Given the description of an element on the screen output the (x, y) to click on. 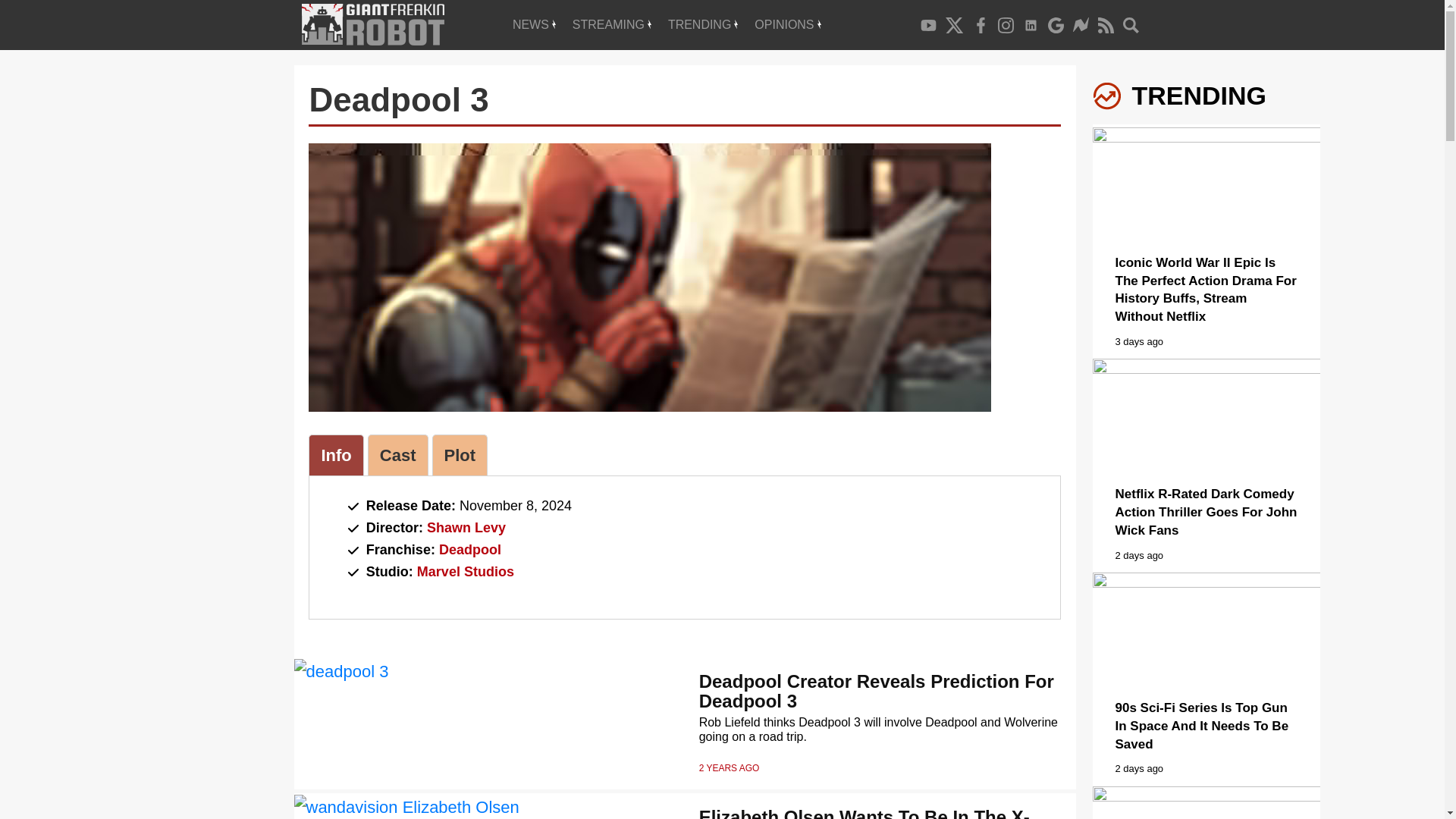
Shawn Levy (465, 527)
Entertainment News (533, 24)
Streaming (611, 24)
Marvel Studios (464, 571)
Trending (702, 24)
OPINIONS (786, 24)
Deadpool (469, 549)
TRENDING (702, 24)
NEWS (533, 24)
STREAMING (611, 24)
